Given the description of an element on the screen output the (x, y) to click on. 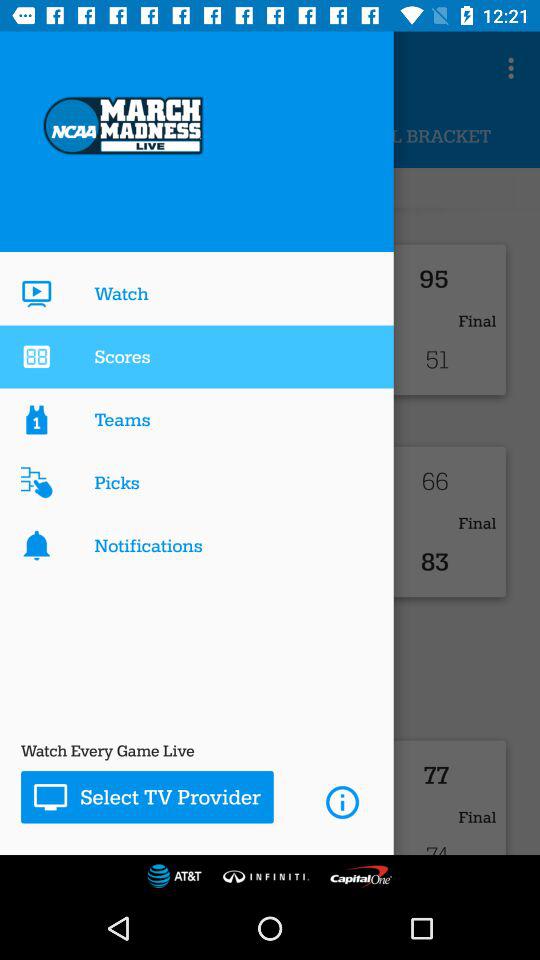
select the symbol which is to the immediate right of the select tv provider (341, 801)
